Given the description of an element on the screen output the (x, y) to click on. 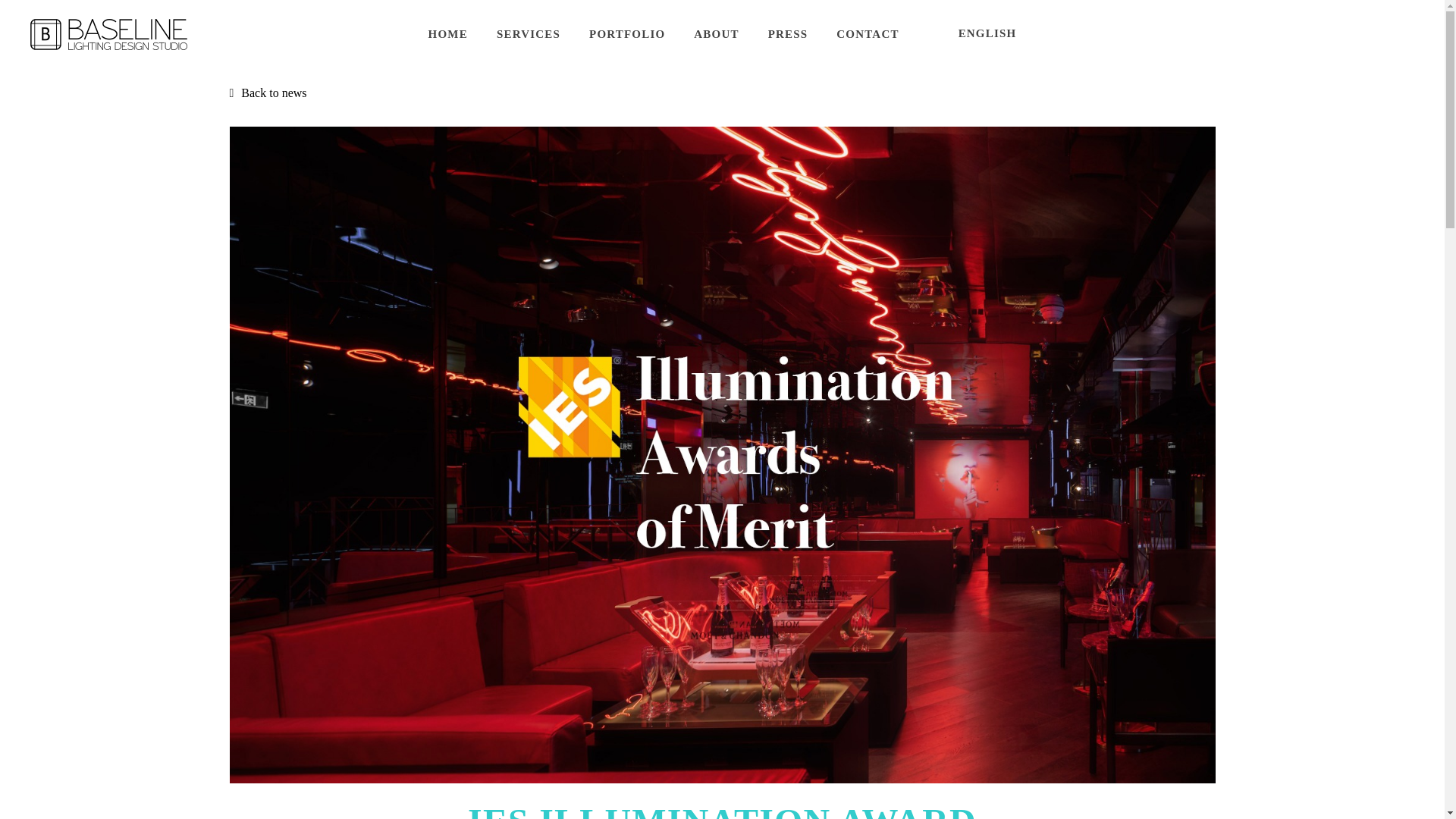
English (986, 33)
PRESS (788, 33)
SERVICES (528, 33)
ABOUT (715, 33)
CONTACT (867, 33)
PORTFOLIO (627, 33)
ENGLISH (986, 33)
HOME (447, 33)
